Given the description of an element on the screen output the (x, y) to click on. 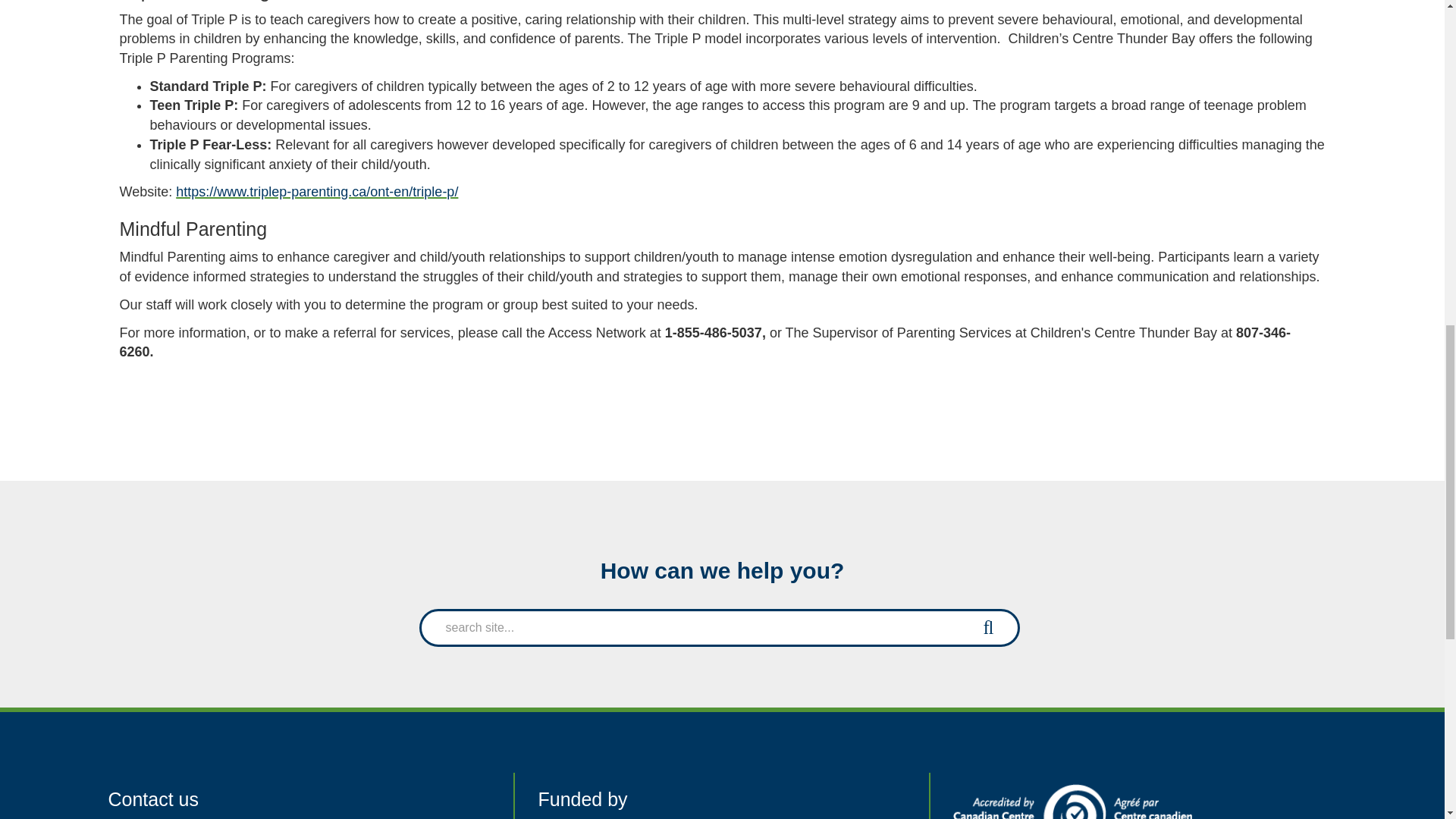
Search (988, 627)
